Given the description of an element on the screen output the (x, y) to click on. 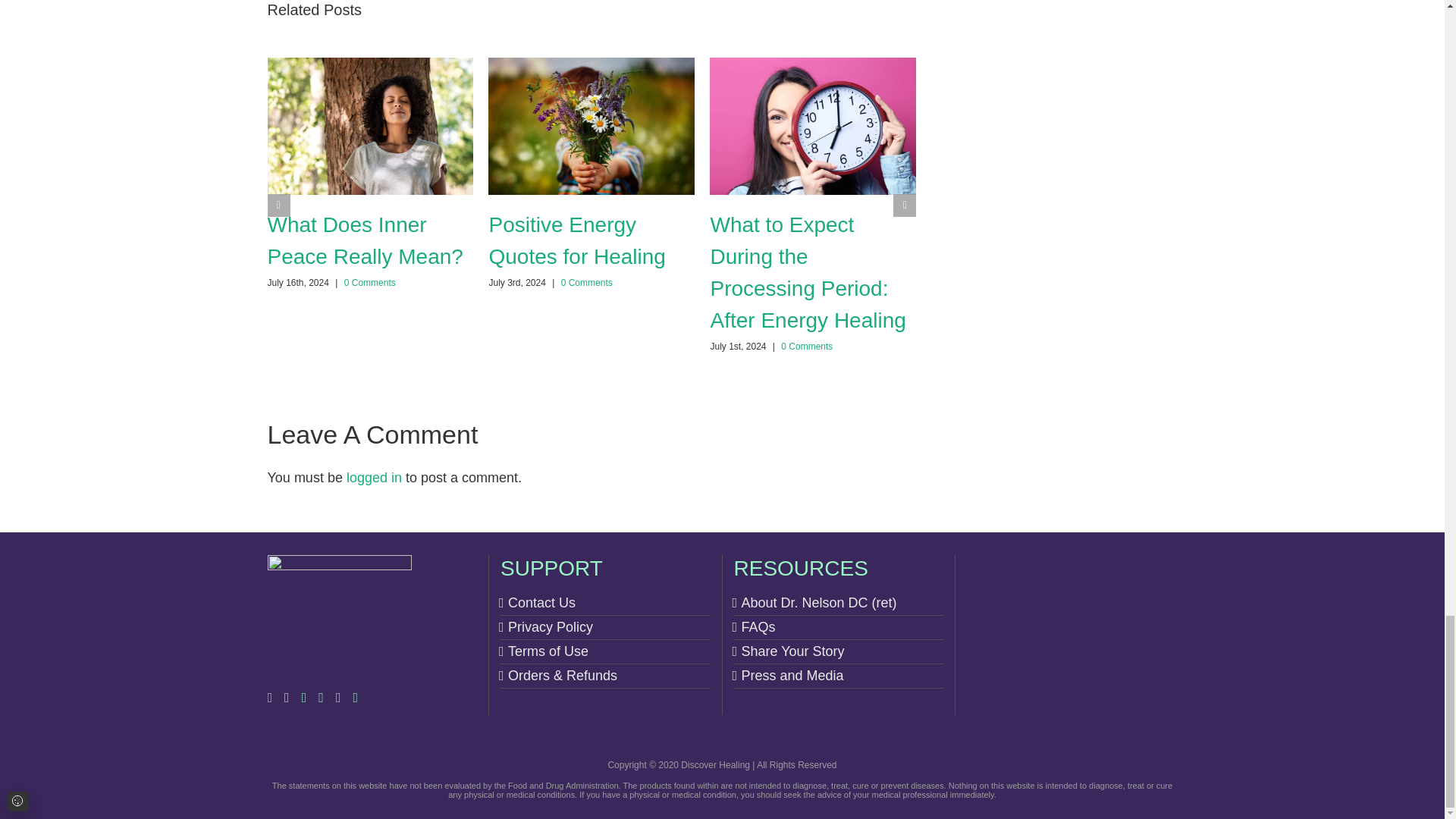
What Does Inner Peace Really Mean? (364, 240)
